Given the description of an element on the screen output the (x, y) to click on. 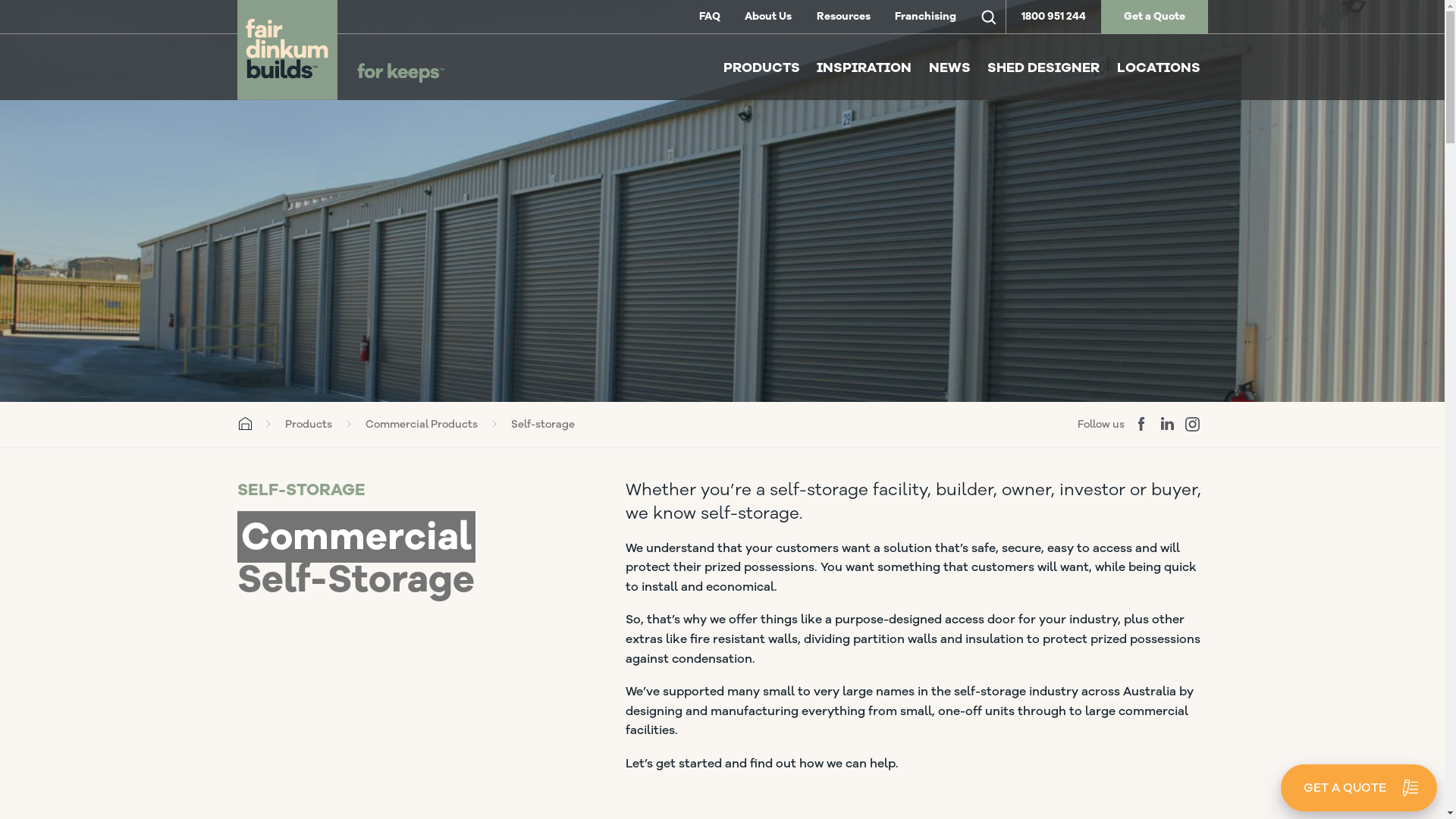
Get a Quote Element type: text (1154, 17)
Franchising Element type: text (925, 17)
Products Element type: text (308, 424)
Resources Element type: text (842, 17)
GET A QUOTE Element type: text (1358, 787)
1800 951 244 Element type: text (1053, 17)
INSPIRATION Element type: text (864, 67)
social-linkedin Element type: text (1166, 424)
  Element type: text (988, 17)
social-instagram Element type: text (1192, 424)
Go Element type: text (25, 18)
FAQ Element type: text (709, 17)
About Us Element type: text (768, 17)
PRODUCTS Element type: text (761, 67)
SHED DESIGNER Element type: text (1043, 67)
Commercial Products Element type: text (421, 424)
social-facebook Element type: text (1140, 424)
Self-storage Element type: text (542, 424)
LOCATIONS Element type: text (1157, 67)
NEWS Element type: text (948, 67)
